Given the description of an element on the screen output the (x, y) to click on. 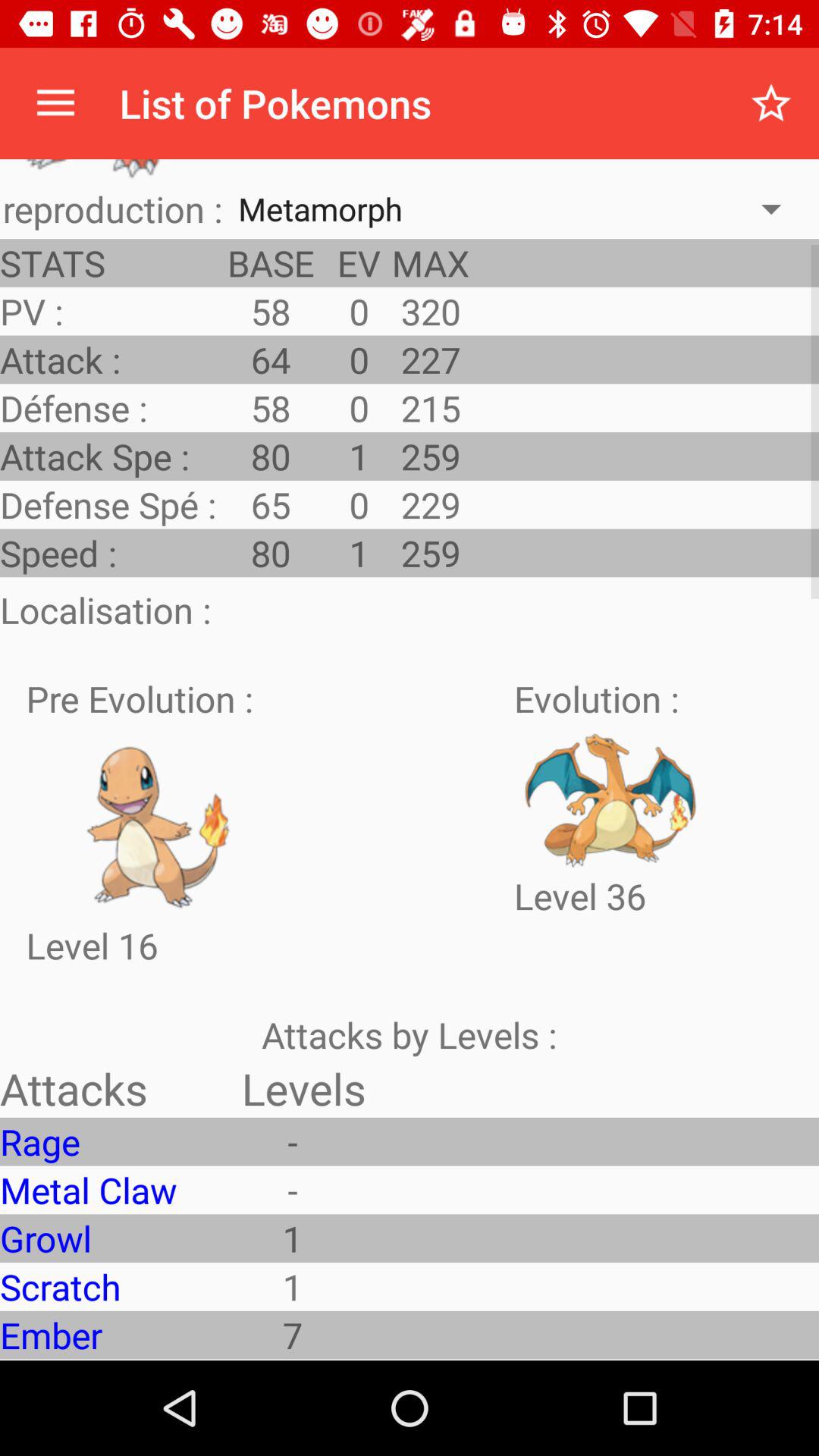
select image (160, 821)
